Given the description of an element on the screen output the (x, y) to click on. 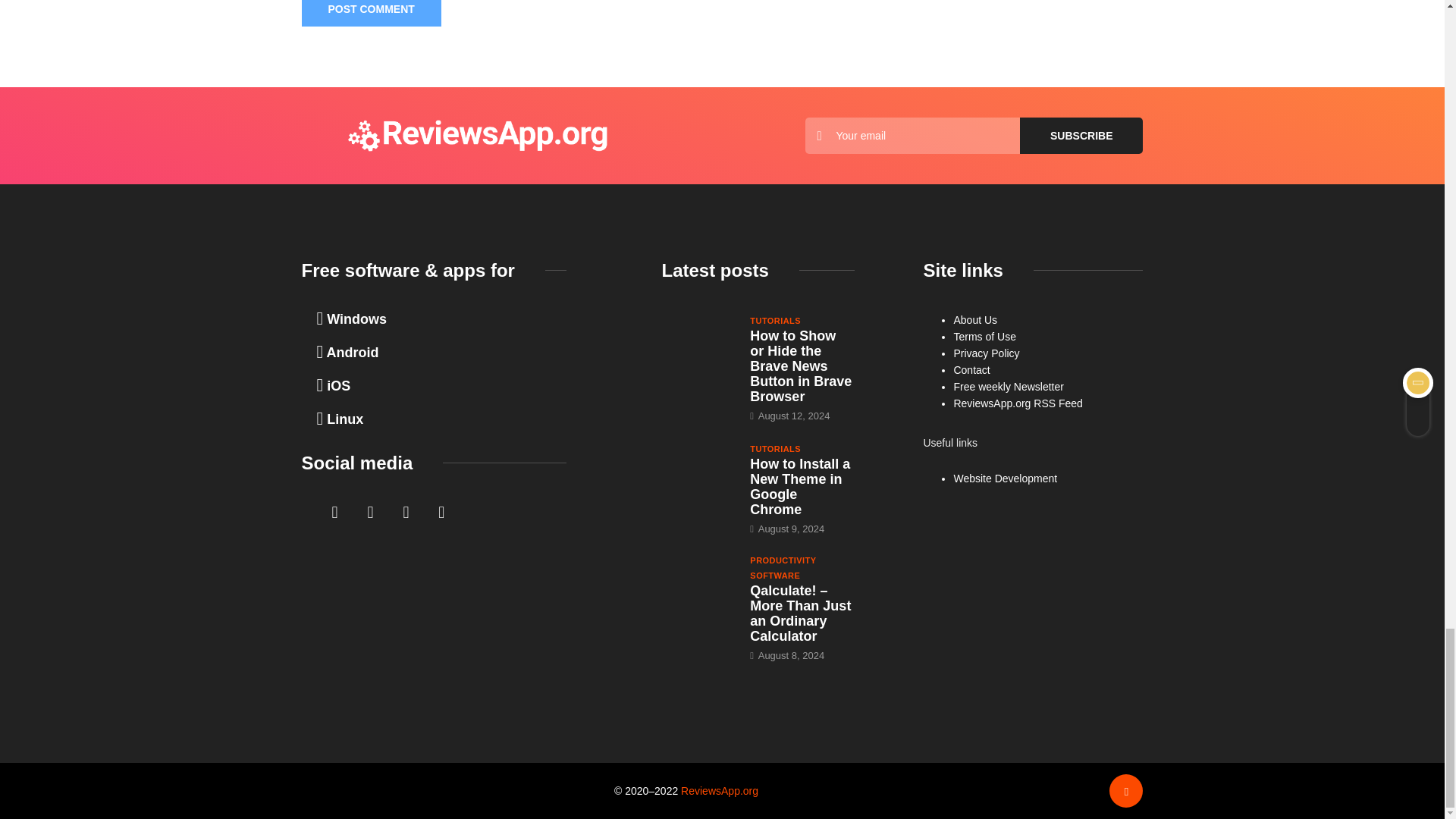
Free software for Linux (340, 418)
Free software for Windows (352, 319)
Free apps for iOS (333, 385)
Free apps for Android (347, 352)
Subscribe (1081, 135)
Post Comment (371, 13)
